Given the description of an element on the screen output the (x, y) to click on. 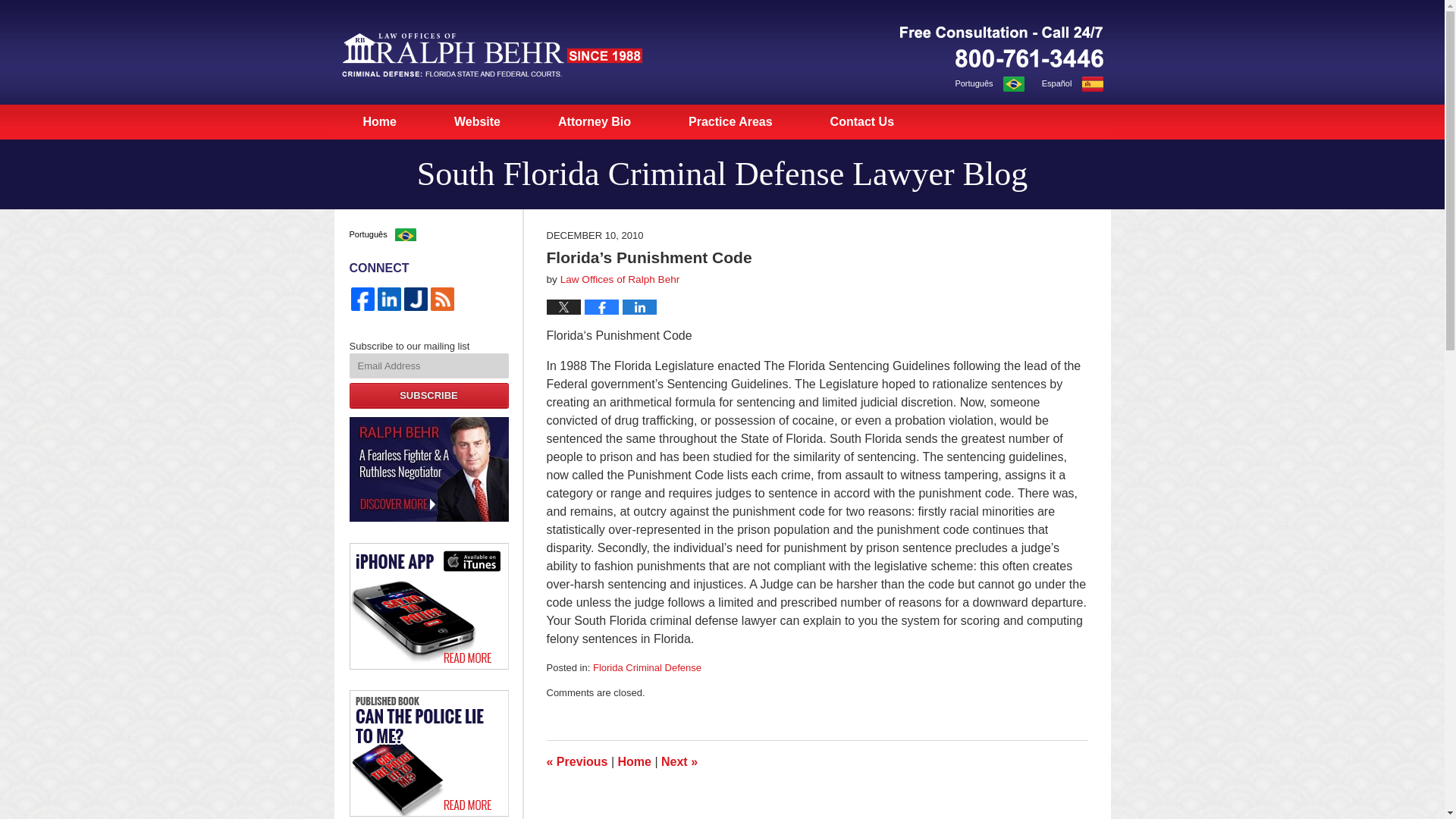
Law Offices of Ralph Behr (619, 279)
Ralph Behr - Discover More (428, 468)
Attorney Bio (594, 121)
SAY NO TO POLICE (576, 761)
Home (633, 761)
Home (379, 121)
Feed (442, 298)
View all posts in Florida Criminal Defense (646, 667)
Florida Criminal Defense (646, 667)
Facebook (362, 298)
